Given the description of an element on the screen output the (x, y) to click on. 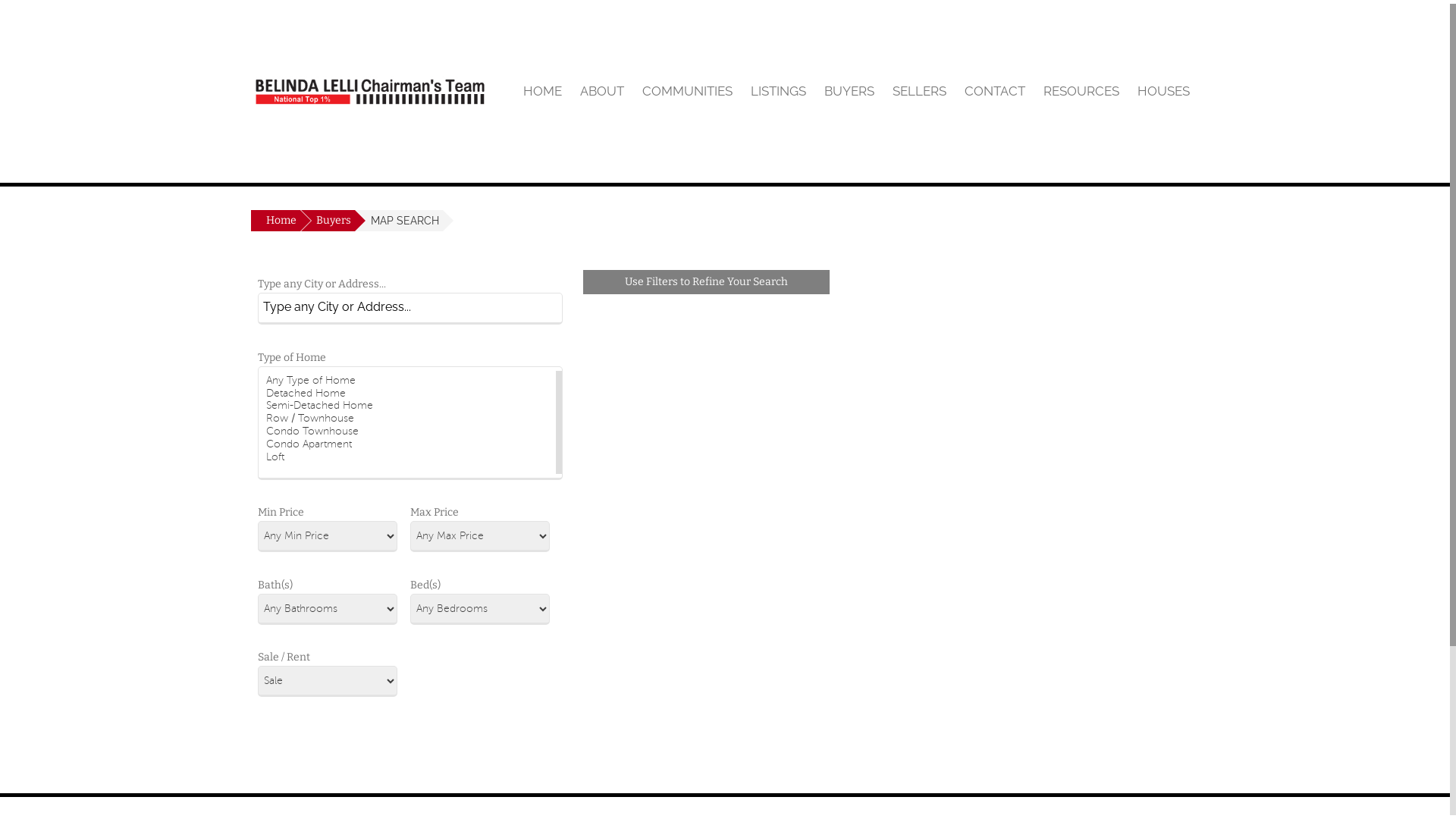
BUYERS Element type: text (849, 90)
HOME Element type: text (542, 90)
SELLERS Element type: text (919, 90)
Home Element type: text (275, 220)
COMMUNITIES Element type: text (687, 90)
CONTACT Element type: text (994, 90)
HOUSES Element type: text (1163, 90)
Buyers Element type: text (327, 220)
RESOURCES Element type: text (1081, 90)
LISTINGS Element type: text (778, 90)
ABOUT Element type: text (602, 90)
